Given the description of an element on the screen output the (x, y) to click on. 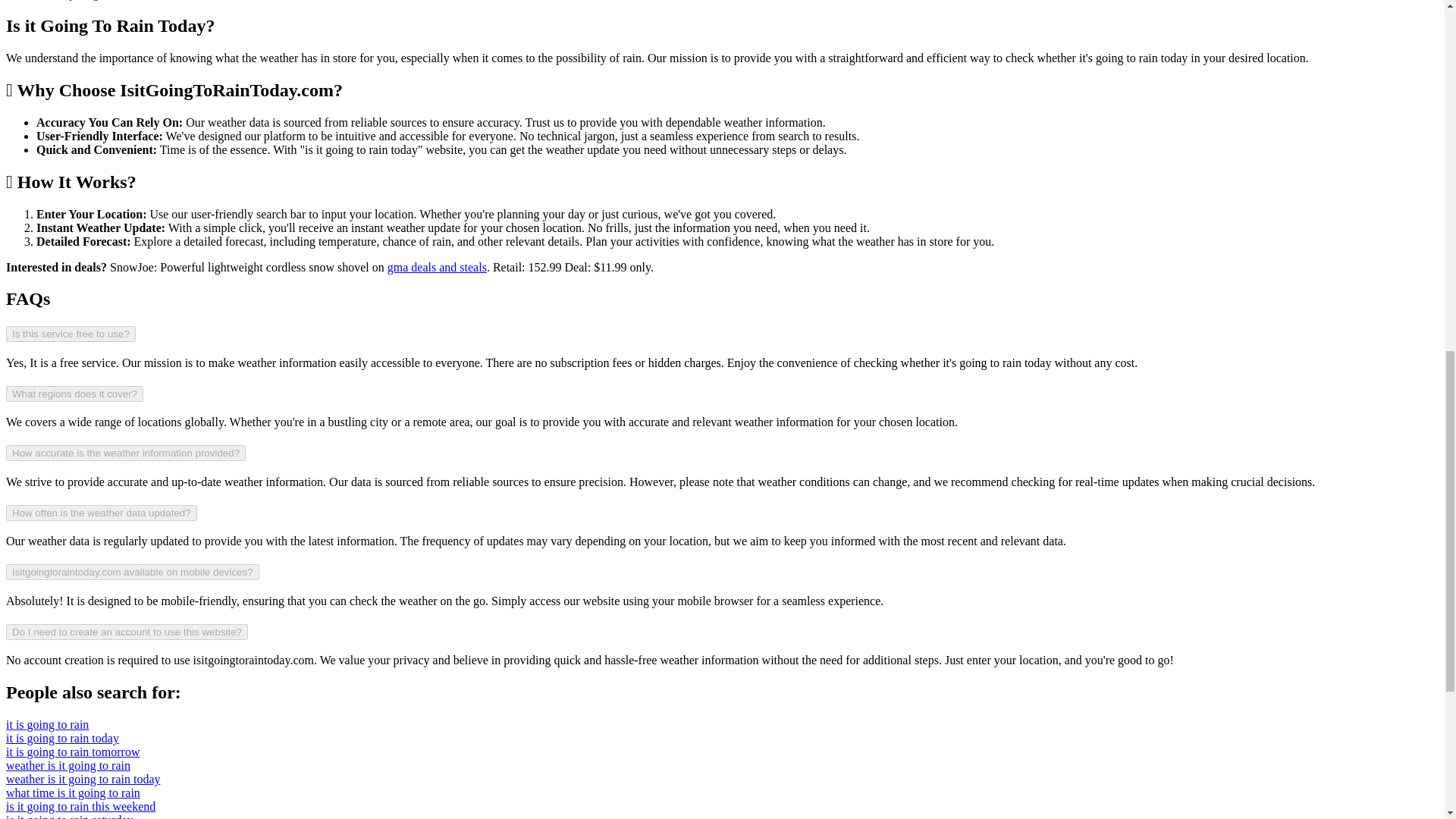
Isitgoingtoraintoday.com available on mobile devices? (132, 571)
How accurate is the weather information provided? (125, 453)
weather is it going to rain today (82, 779)
gma deals and steals (436, 267)
weather is it going to rain (68, 765)
How often is the weather data updated? (100, 512)
Is this service free to use? (70, 333)
it is going to rain (46, 724)
Do I need to create an account to use this website? (126, 631)
it is going to rain today (62, 738)
it is going to rain tomorrow (72, 751)
What regions does it cover? (73, 393)
